Given the description of an element on the screen output the (x, y) to click on. 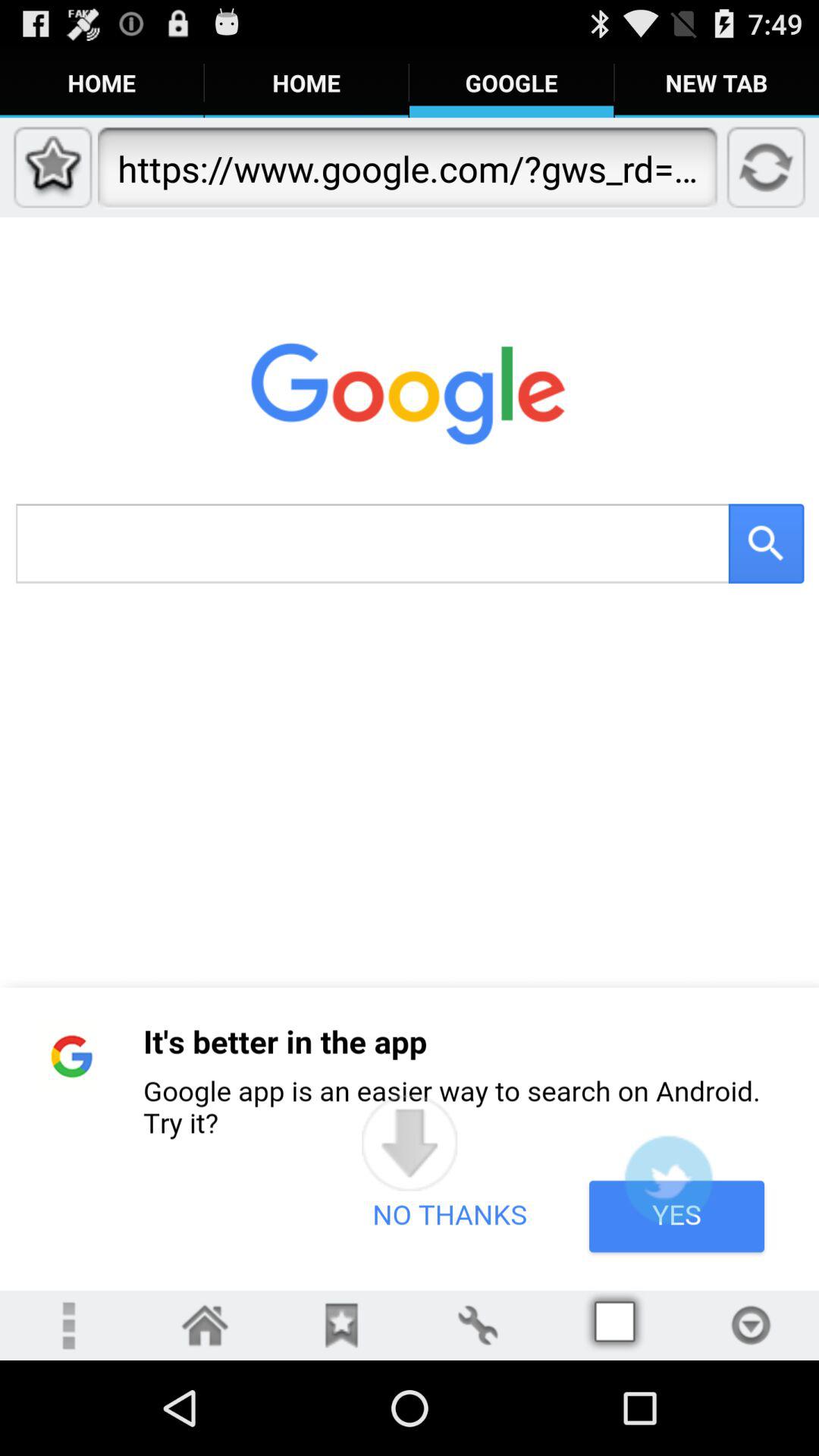
setting (477, 1325)
